Given the description of an element on the screen output the (x, y) to click on. 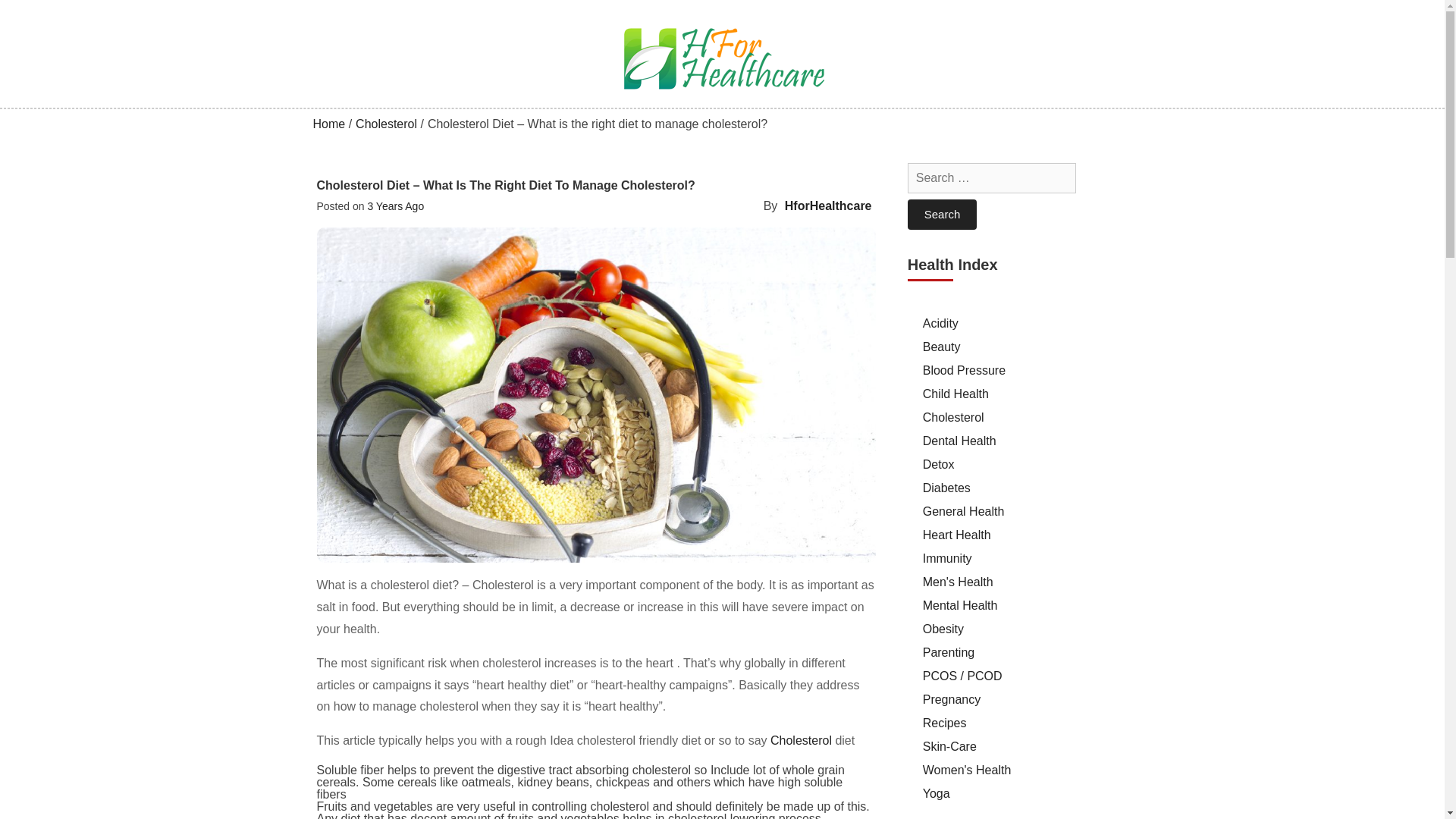
The Good Health Site (363, 103)
Search (941, 214)
Home (329, 123)
Beauty (941, 346)
Cholesterol (953, 417)
Blood Pressure (964, 369)
Search (941, 214)
Acidity (940, 323)
Dental Health (959, 440)
Search (941, 214)
HforHealthcare (828, 205)
3 Years Ago (394, 205)
Cholesterol (800, 739)
Cholesterol (385, 123)
Child Health (955, 393)
